Given the description of an element on the screen output the (x, y) to click on. 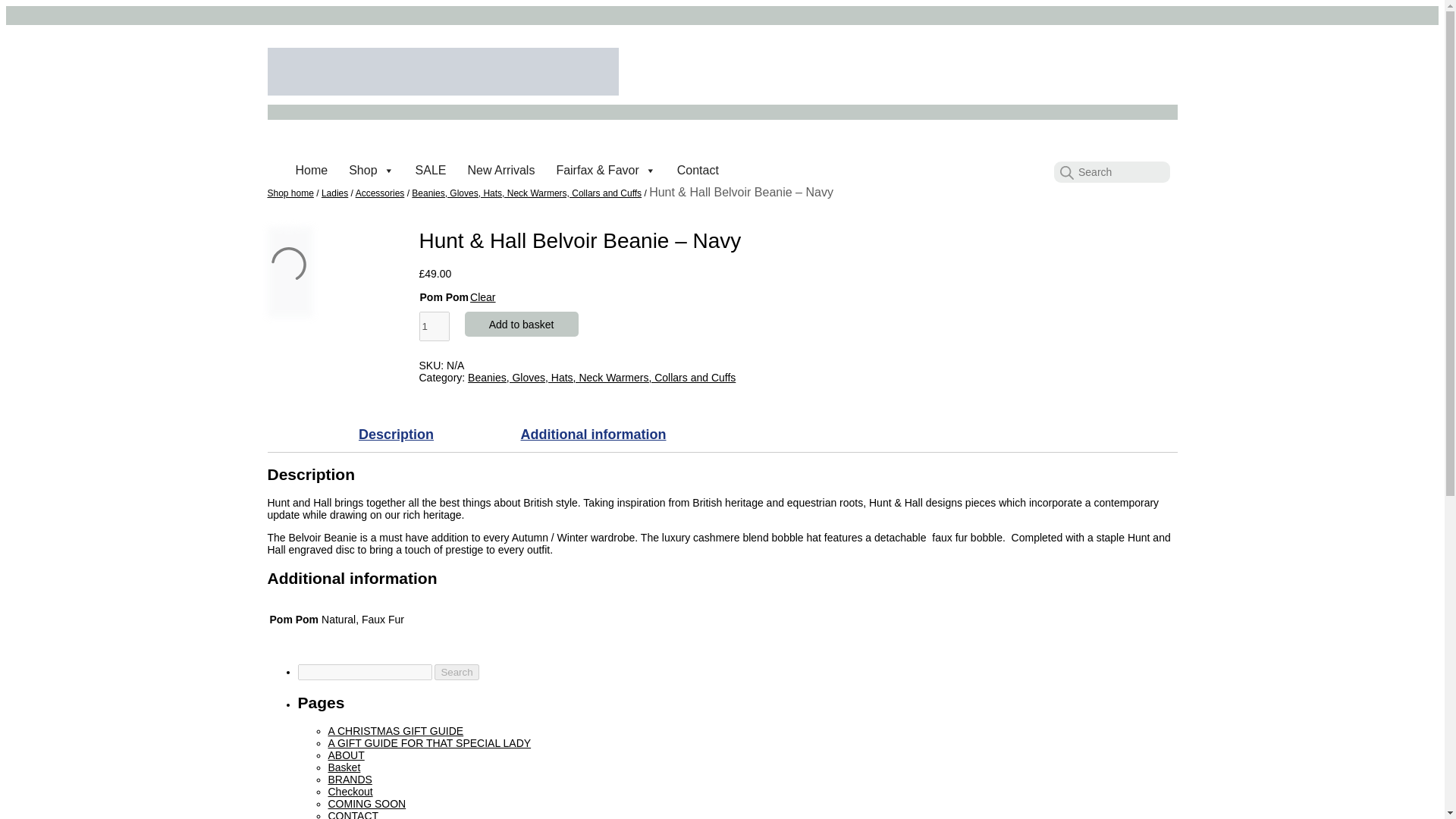
Beanies, Gloves, Hats, Neck Warmers, Collars and Cuffs (601, 377)
Search (456, 672)
New Arrivals (500, 170)
Shop home (289, 193)
Search (456, 672)
Add to basket (521, 323)
Clear (482, 297)
Basket (343, 767)
A CHRISTMAS GIFT GUIDE (395, 730)
A GIFT GUIDE FOR THAT SPECIAL LADY (429, 743)
Accessories (379, 193)
1 (433, 325)
SALE (430, 170)
Shop (370, 170)
BRANDS (349, 779)
